Given the description of an element on the screen output the (x, y) to click on. 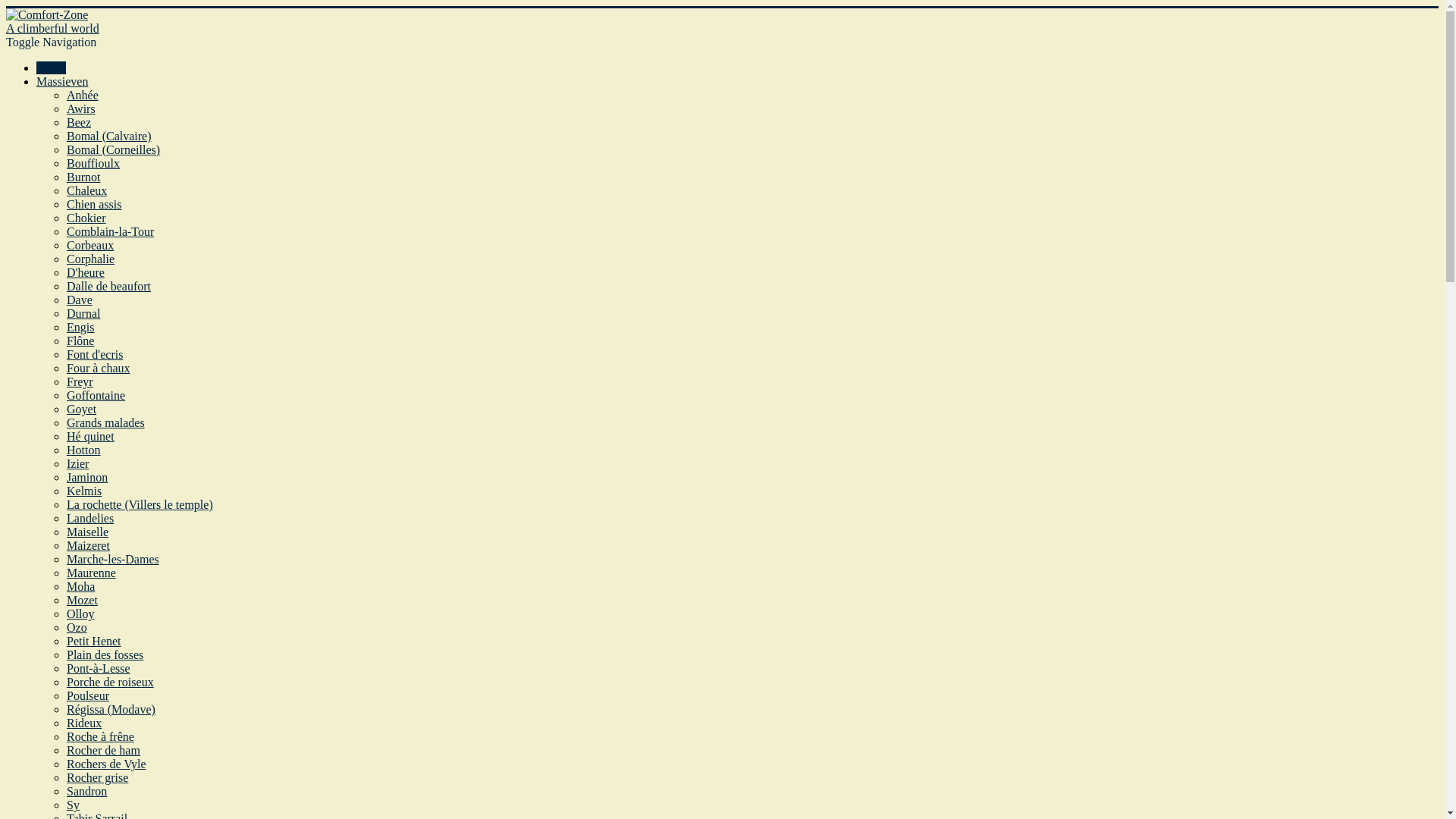
Poulseur Element type: text (87, 695)
Dave Element type: text (79, 299)
Rideux Element type: text (83, 722)
Beez Element type: text (78, 122)
Bomal (Calvaire) Element type: text (108, 135)
Moha Element type: text (80, 586)
Mozet Element type: text (81, 599)
Maurenne Element type: text (91, 572)
Jaminon Element type: text (86, 476)
Maizeret Element type: text (87, 545)
Massieven Element type: text (61, 81)
Rocher grise Element type: text (97, 777)
Goyet Element type: text (81, 408)
Bouffioulx Element type: text (92, 162)
Rochers de Vyle Element type: text (106, 763)
Plain des fosses Element type: text (104, 654)
Chokier Element type: text (86, 217)
Dalle de beaufort Element type: text (108, 285)
A climberful world Element type: text (722, 21)
Sandron Element type: text (86, 790)
Grands malades Element type: text (105, 422)
Engis Element type: text (80, 326)
Izier Element type: text (77, 463)
Awirs Element type: text (80, 108)
Porche de roiseux Element type: text (109, 681)
Goffontaine Element type: text (95, 395)
Home Element type: text (50, 67)
Chaleux Element type: text (86, 190)
Freyr Element type: text (79, 381)
La rochette (Villers le temple) Element type: text (139, 504)
Olloy Element type: text (80, 613)
Comblain-la-Tour Element type: text (109, 231)
D'heure Element type: text (85, 272)
Rocher de ham Element type: text (103, 749)
Burnot Element type: text (83, 176)
Sy Element type: text (72, 804)
Marche-les-Dames Element type: text (112, 558)
Maiselle Element type: text (87, 531)
Toggle Navigation Element type: text (51, 41)
Ozo Element type: text (76, 627)
Chien assis Element type: text (93, 203)
Font d'ecris Element type: text (94, 354)
Bomal (Corneilles) Element type: text (113, 149)
Hotton Element type: text (83, 449)
Corbeaux Element type: text (89, 244)
Durnal Element type: text (83, 313)
Kelmis Element type: text (83, 490)
Landelies Element type: text (89, 517)
Corphalie Element type: text (90, 258)
Petit Henet Element type: text (93, 640)
